Given the description of an element on the screen output the (x, y) to click on. 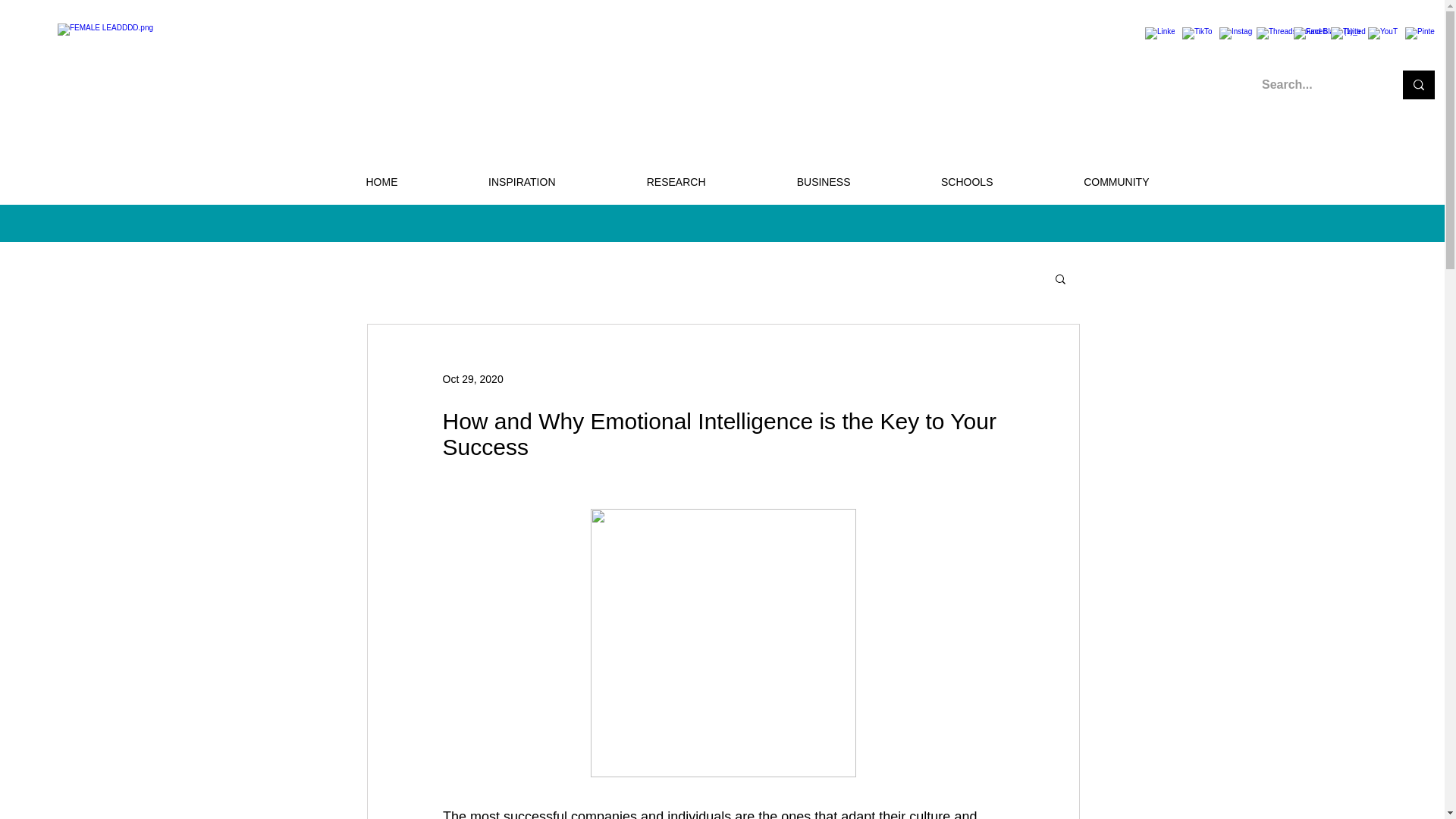
RESEARCH (642, 181)
INSPIRATION (488, 181)
BUSINESS (789, 181)
COMMUNITY (1082, 181)
SCHOOLS (932, 181)
Oct 29, 2020 (472, 378)
HOME (347, 181)
